Given the description of an element on the screen output the (x, y) to click on. 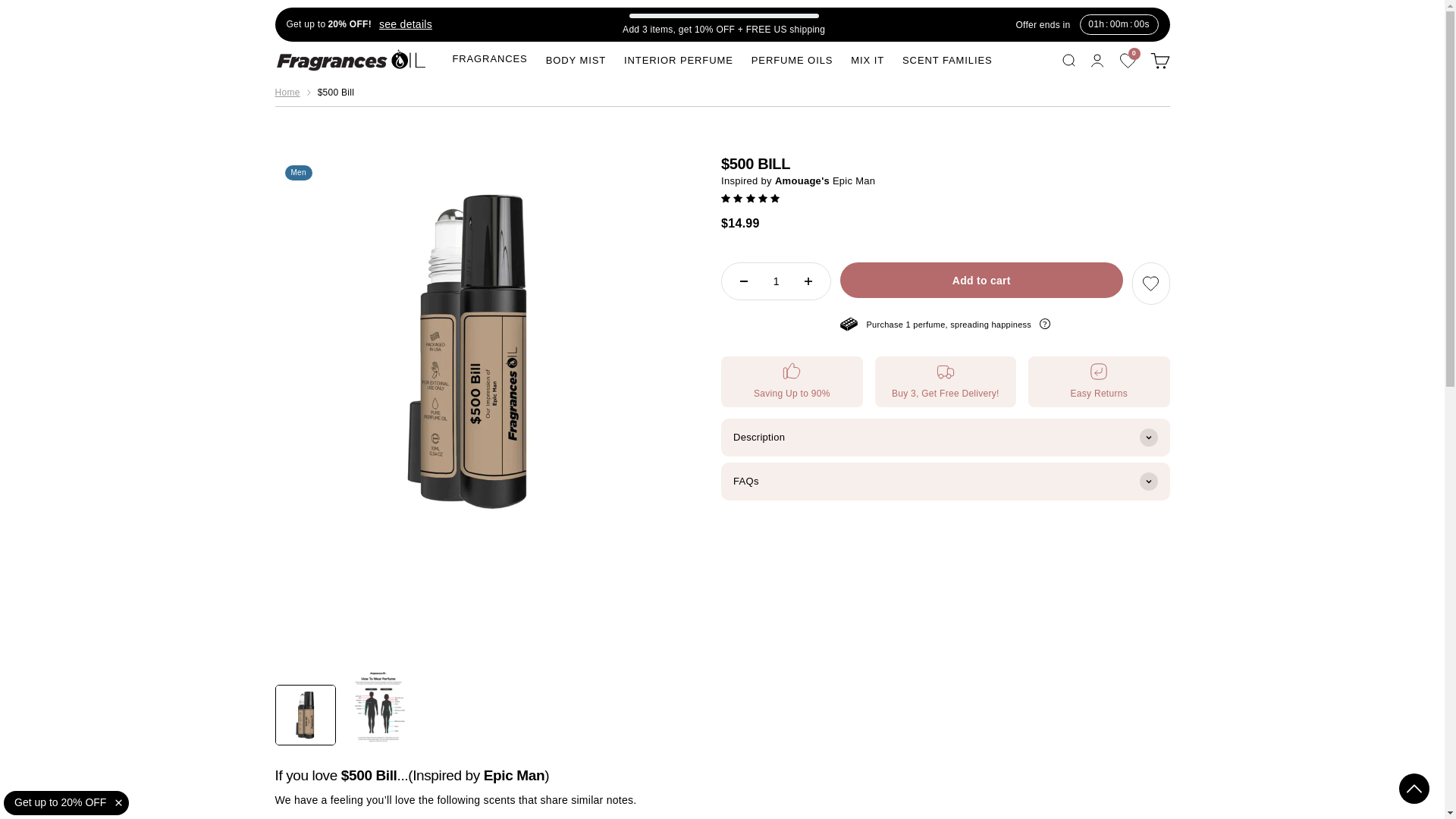
BODY MIST (575, 60)
MIX IT (866, 60)
Open search (1068, 59)
Open cart (1159, 59)
Home (287, 92)
Fragrances Oil (350, 60)
PERFUME OILS (1128, 60)
see details (791, 60)
SCENT FAMILIES (401, 24)
